Given the description of an element on the screen output the (x, y) to click on. 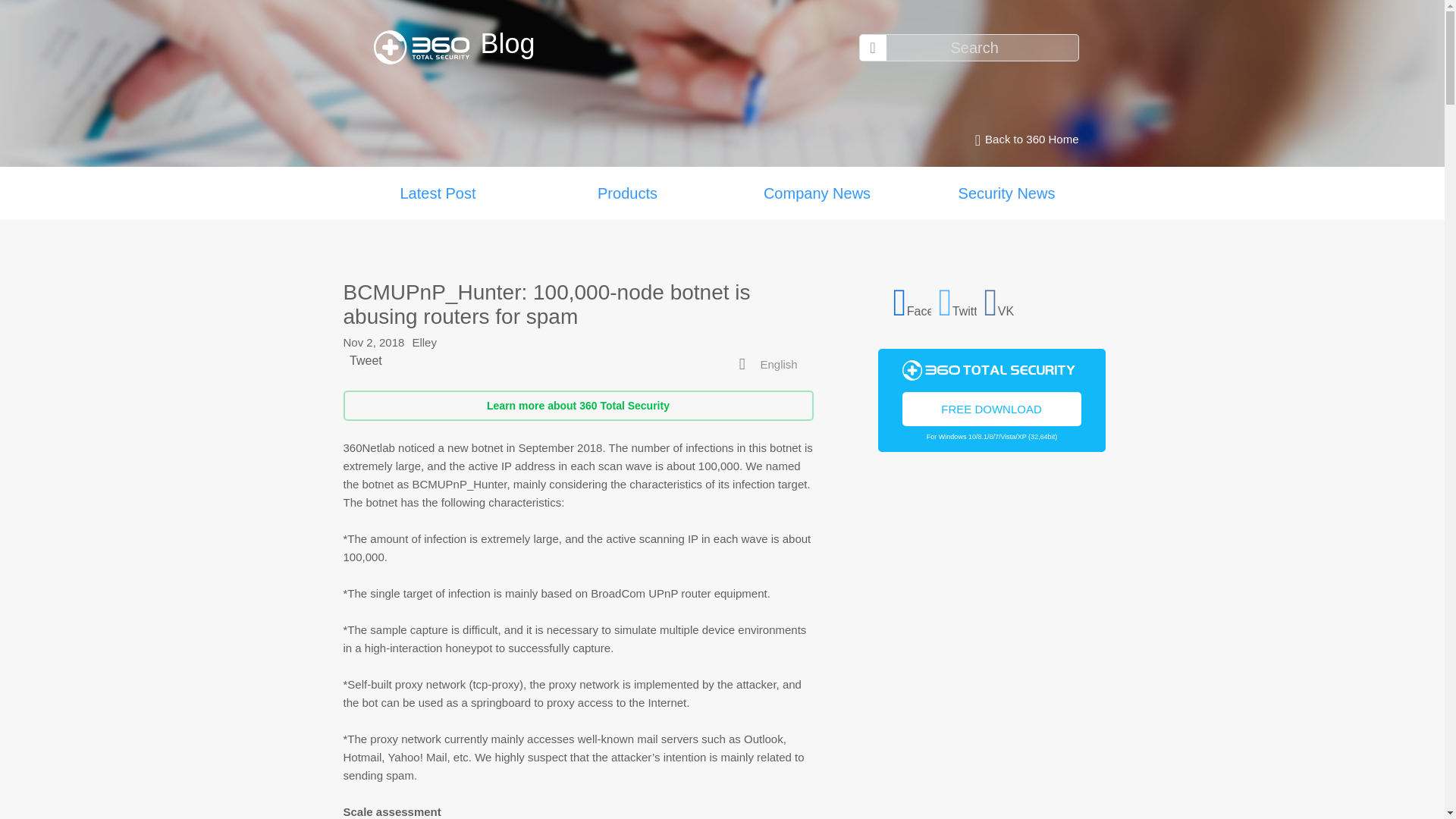
Company News (816, 193)
Back to 360 Home (1022, 140)
360 Total Security Blog Logo (426, 47)
Tweet (365, 359)
Learn more about 360 Total Security (577, 405)
Learn more about 360 Total Security (577, 405)
Facebook (912, 299)
Latest Post (437, 193)
Twitter (957, 299)
Security News (1005, 193)
Products (627, 193)
VK (1003, 299)
Free Download (991, 408)
FREE DOWNLOAD (991, 408)
